Given the description of an element on the screen output the (x, y) to click on. 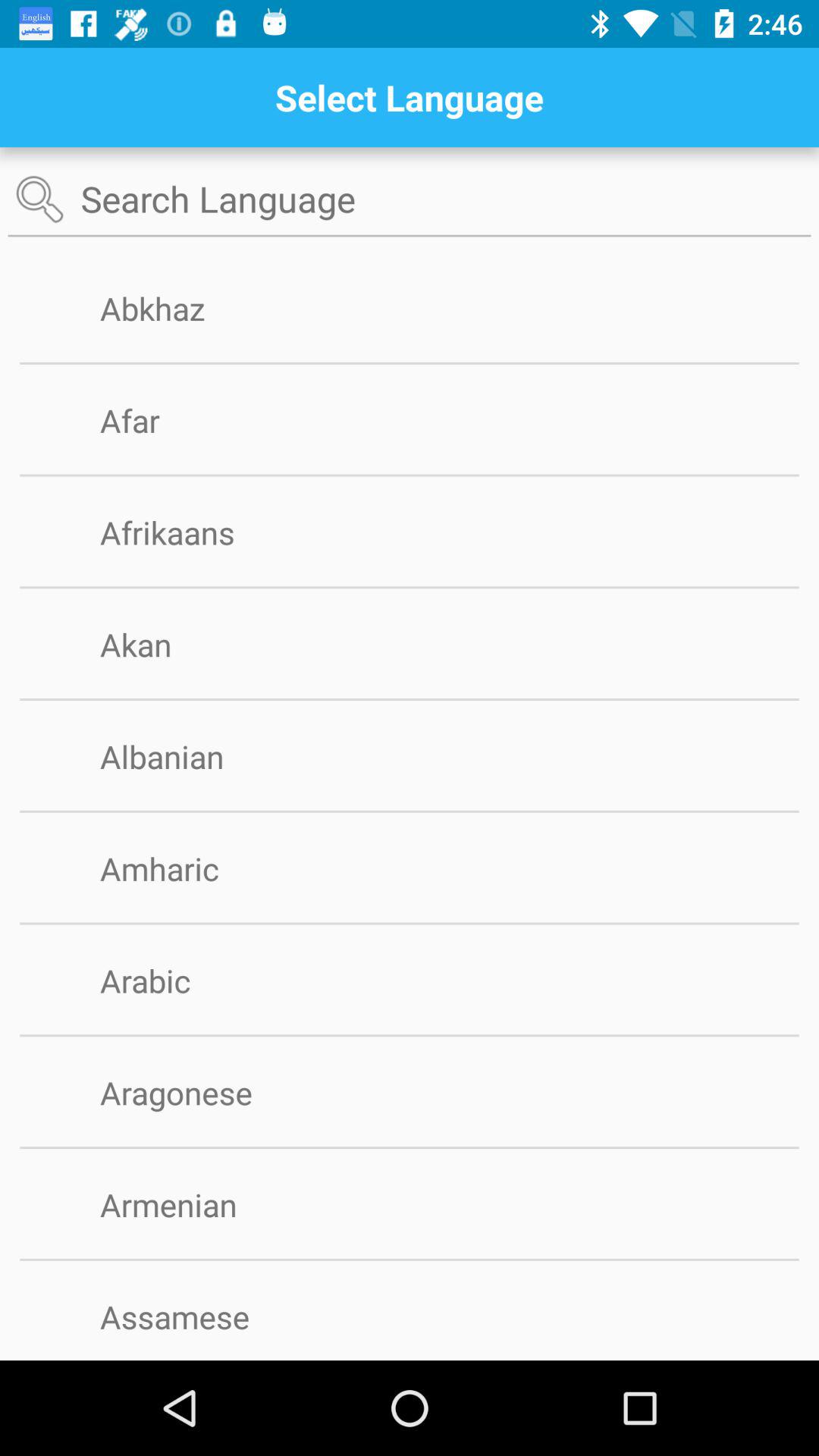
language option (409, 199)
